Given the description of an element on the screen output the (x, y) to click on. 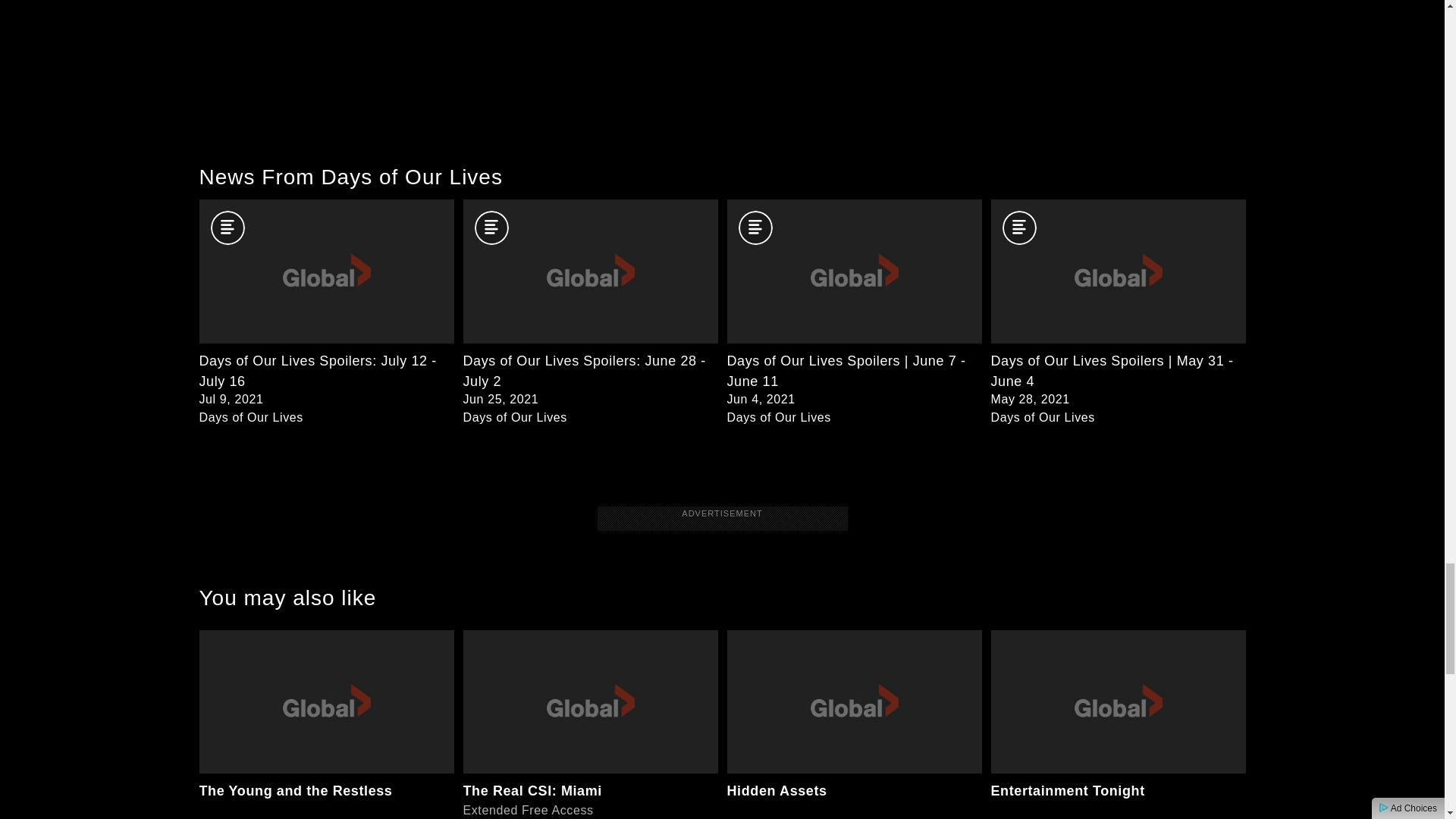
Hidden Assets (590, 724)
The Young and the Restless (853, 724)
Entertainment Tonight (325, 724)
